Given the description of an element on the screen output the (x, y) to click on. 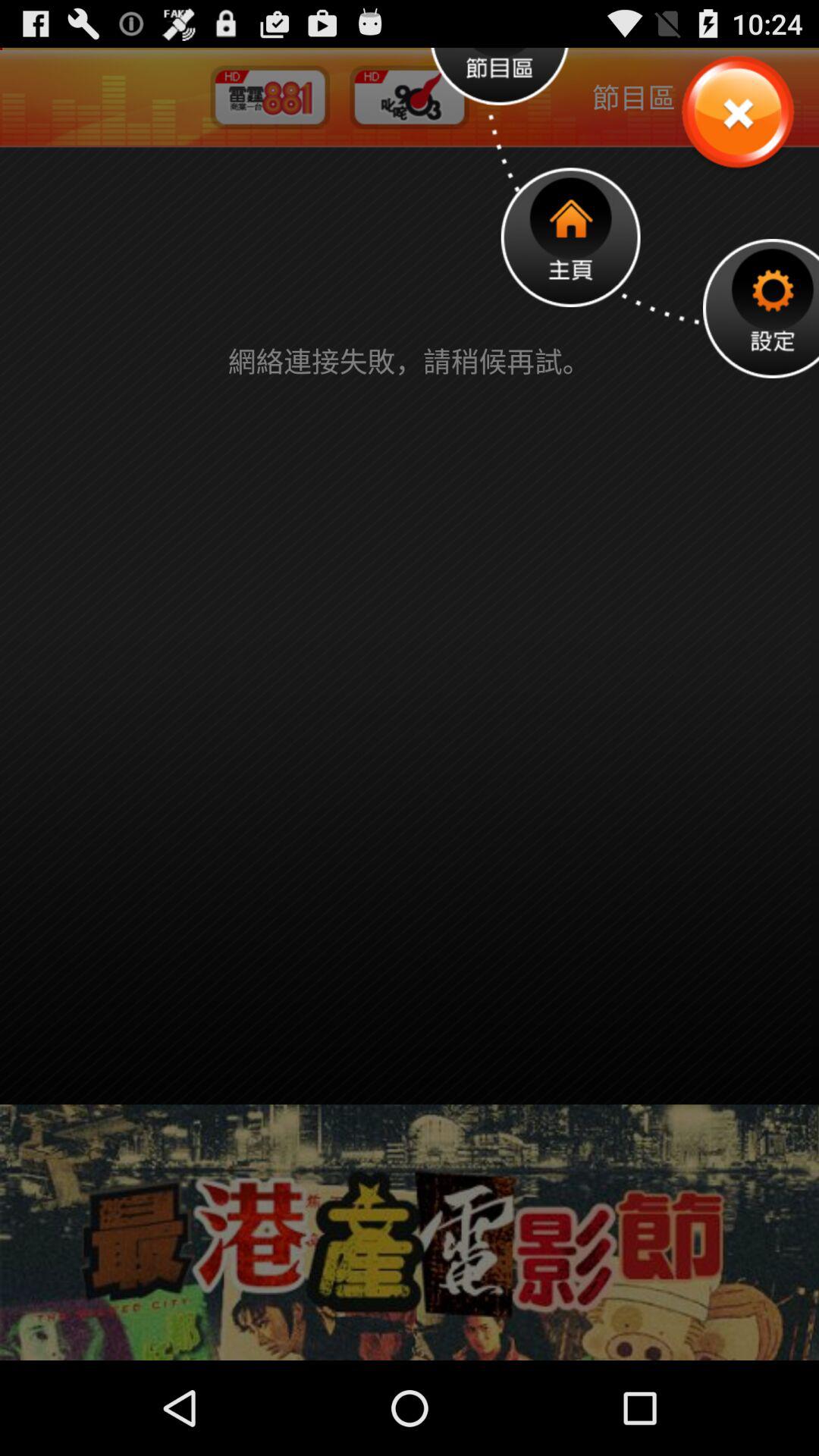
go to homepage (570, 237)
